Given the description of an element on the screen output the (x, y) to click on. 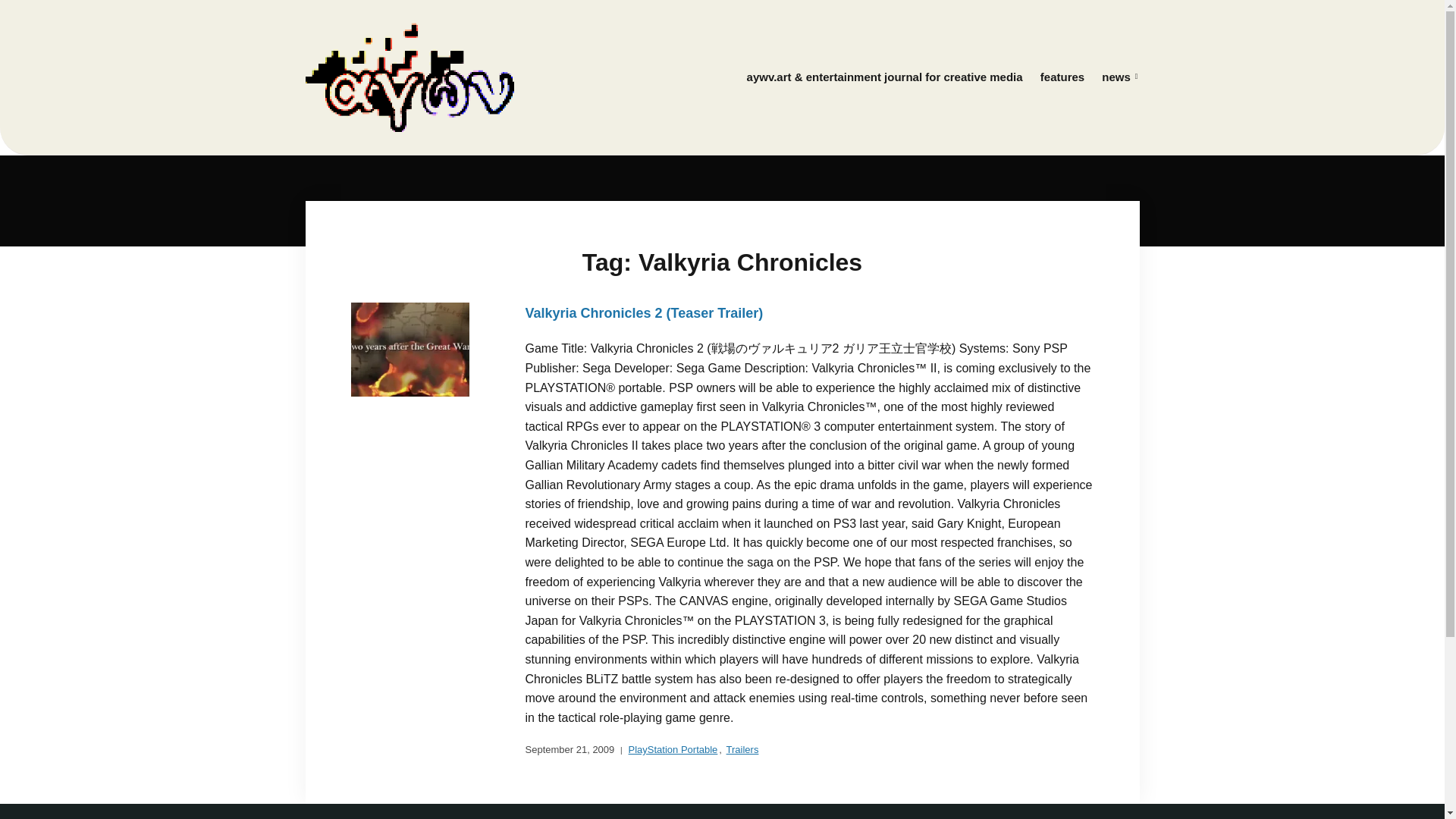
September 21, 2009 (569, 750)
Trailers (742, 750)
PlayStation Portable (672, 750)
Media Gazette (885, 77)
features (1062, 77)
news (1119, 77)
